Given the description of an element on the screen output the (x, y) to click on. 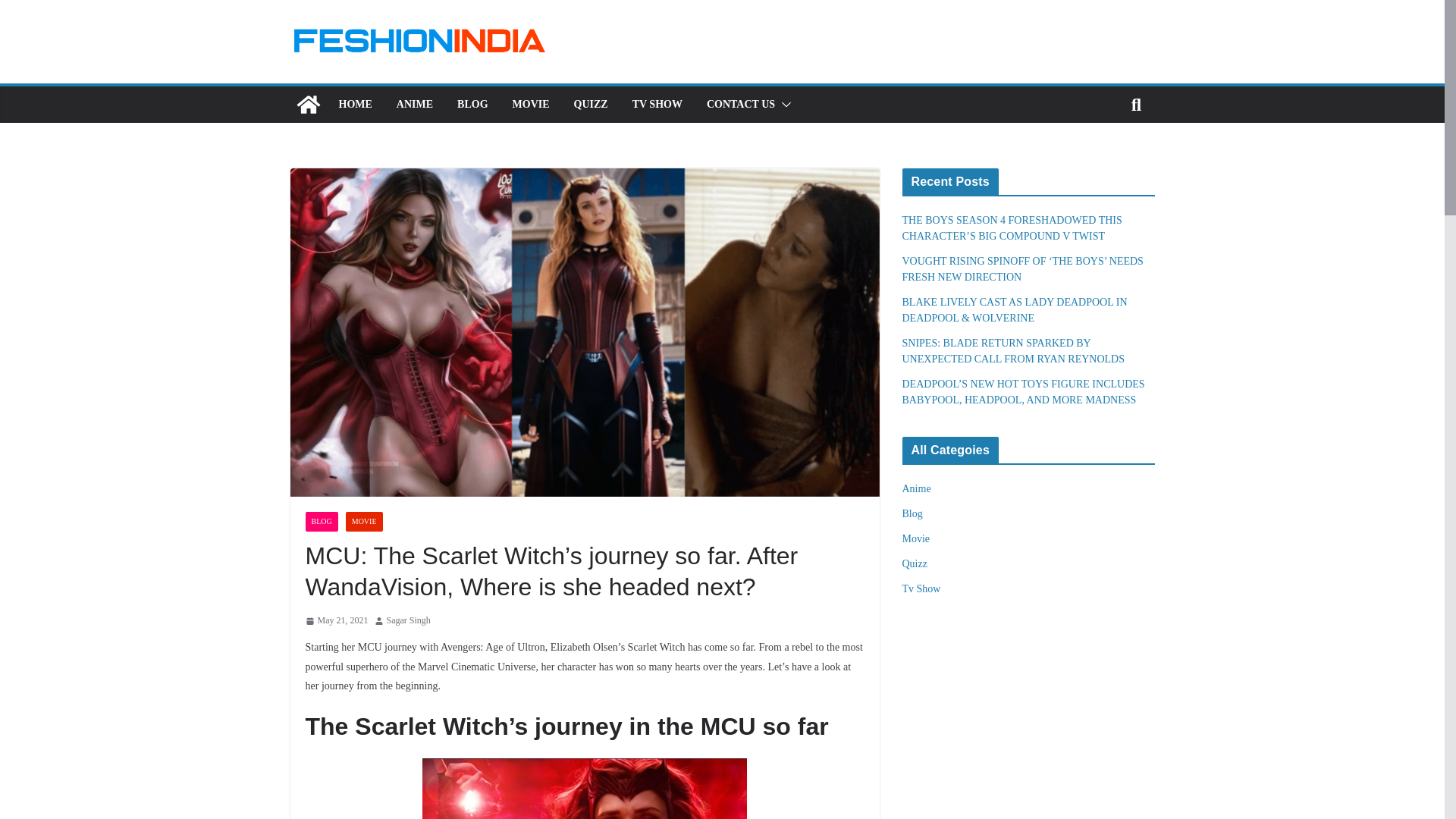
Blog (912, 513)
Quizz (914, 563)
May 21, 2021 (336, 620)
Tv Show (921, 588)
Sagar Singh (408, 620)
Feshion India (307, 104)
Anime (916, 488)
10:54 pm (336, 620)
CONTACT US (740, 104)
HOME (354, 104)
